Given the description of an element on the screen output the (x, y) to click on. 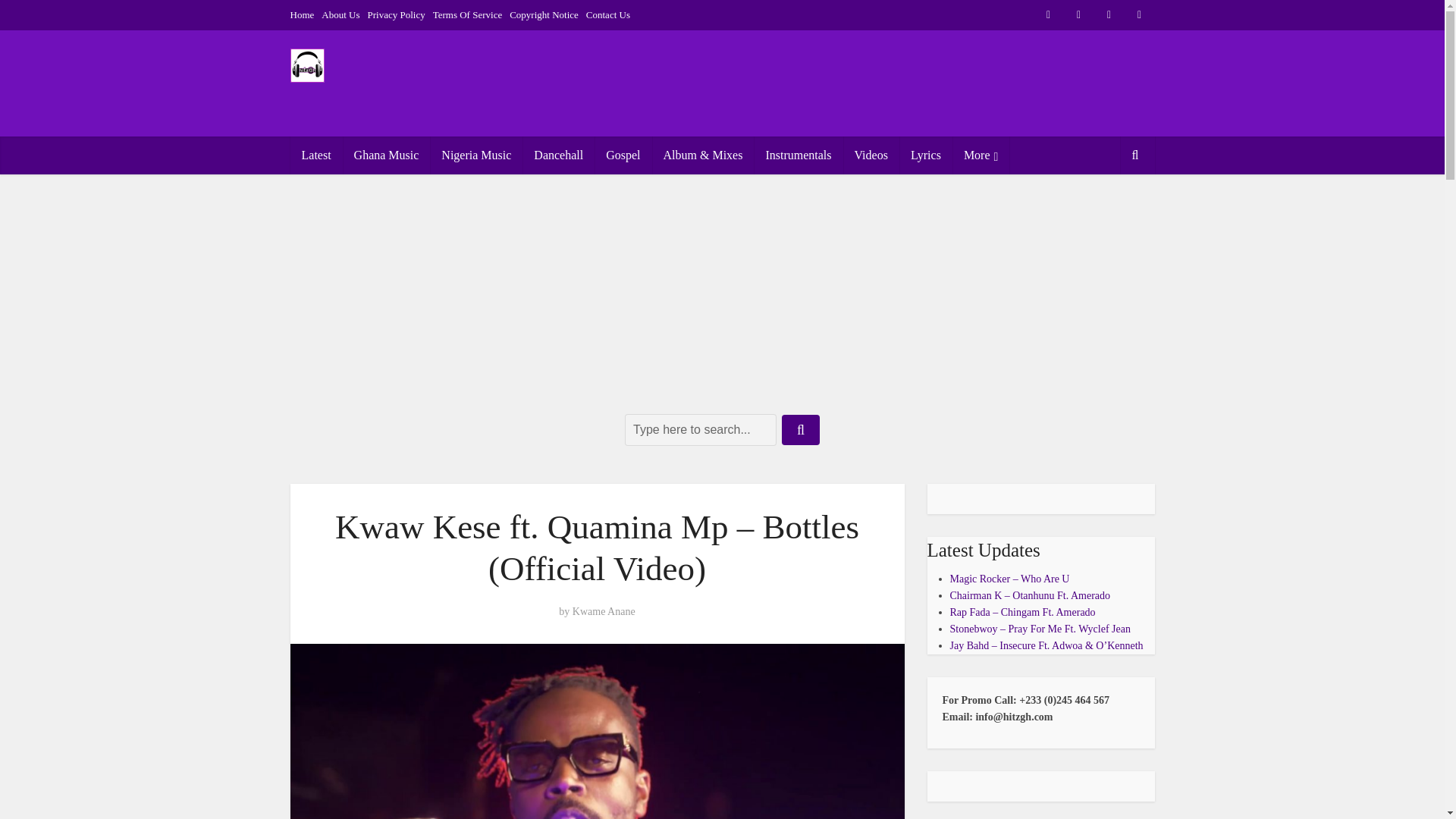
Instrumentals (798, 155)
Privacy Policy (395, 14)
Home (301, 14)
Copyright Notice (543, 14)
Type here to search... (700, 429)
Dancehall (558, 155)
Lyrics (925, 155)
Nigeria Music (475, 155)
About Us (340, 14)
Latest (315, 155)
